Given the description of an element on the screen output the (x, y) to click on. 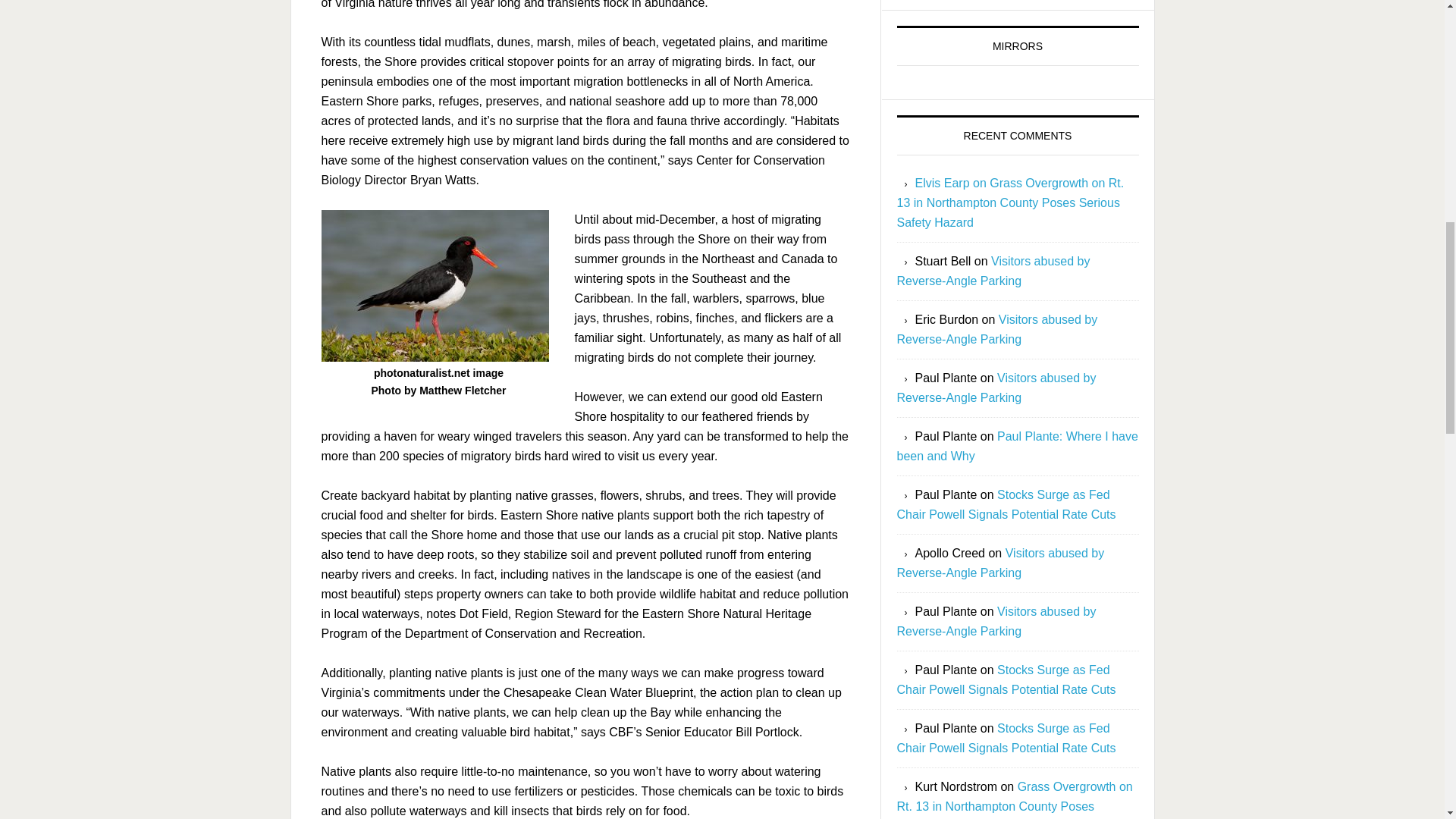
RECENT COMMENTS (1017, 135)
Elvis Earp on (952, 182)
MIRRORS (1016, 49)
